Given the description of an element on the screen output the (x, y) to click on. 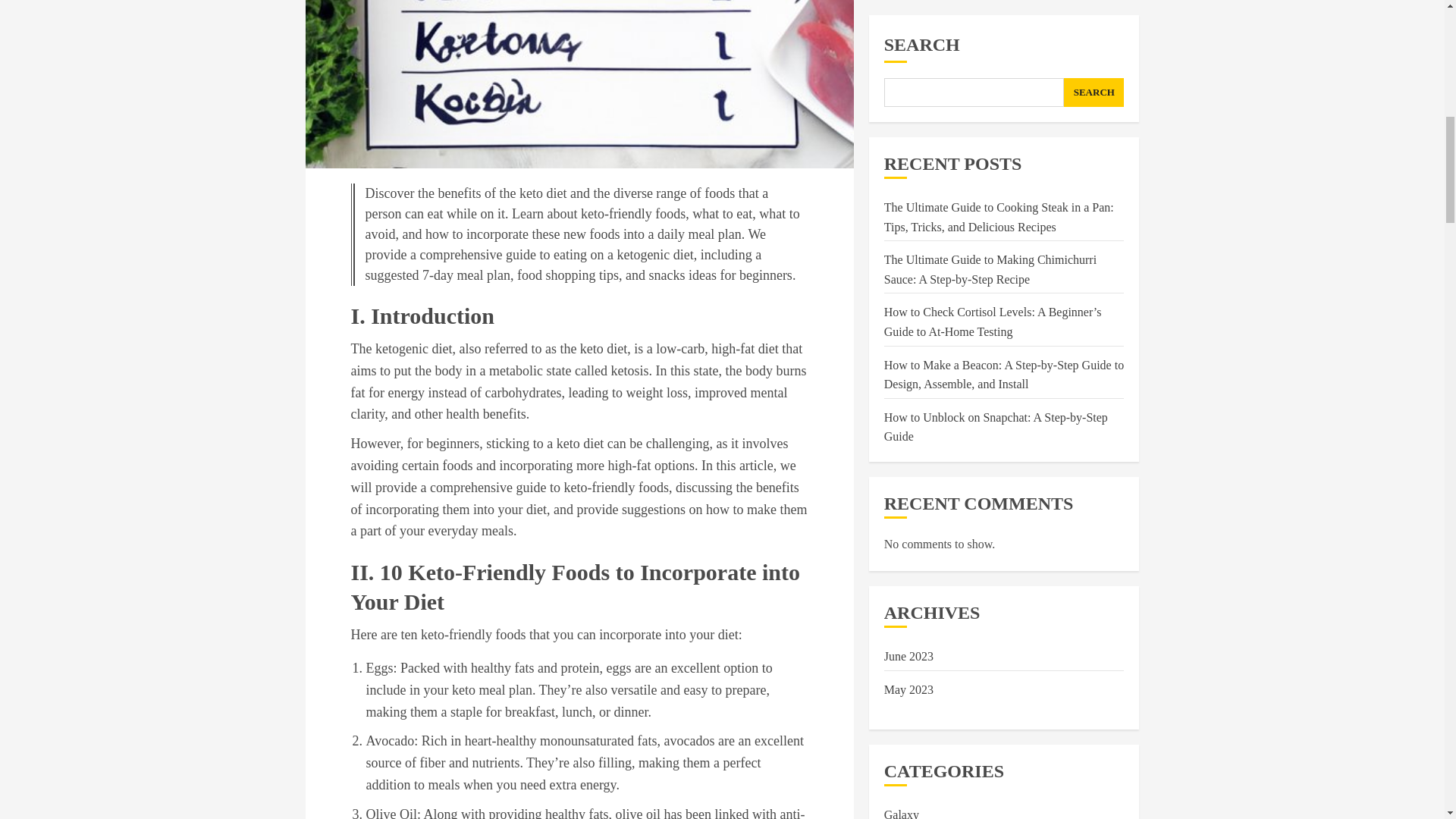
May 2023 (908, 138)
Galaxy (900, 264)
June 2023 (908, 105)
